Given the description of an element on the screen output the (x, y) to click on. 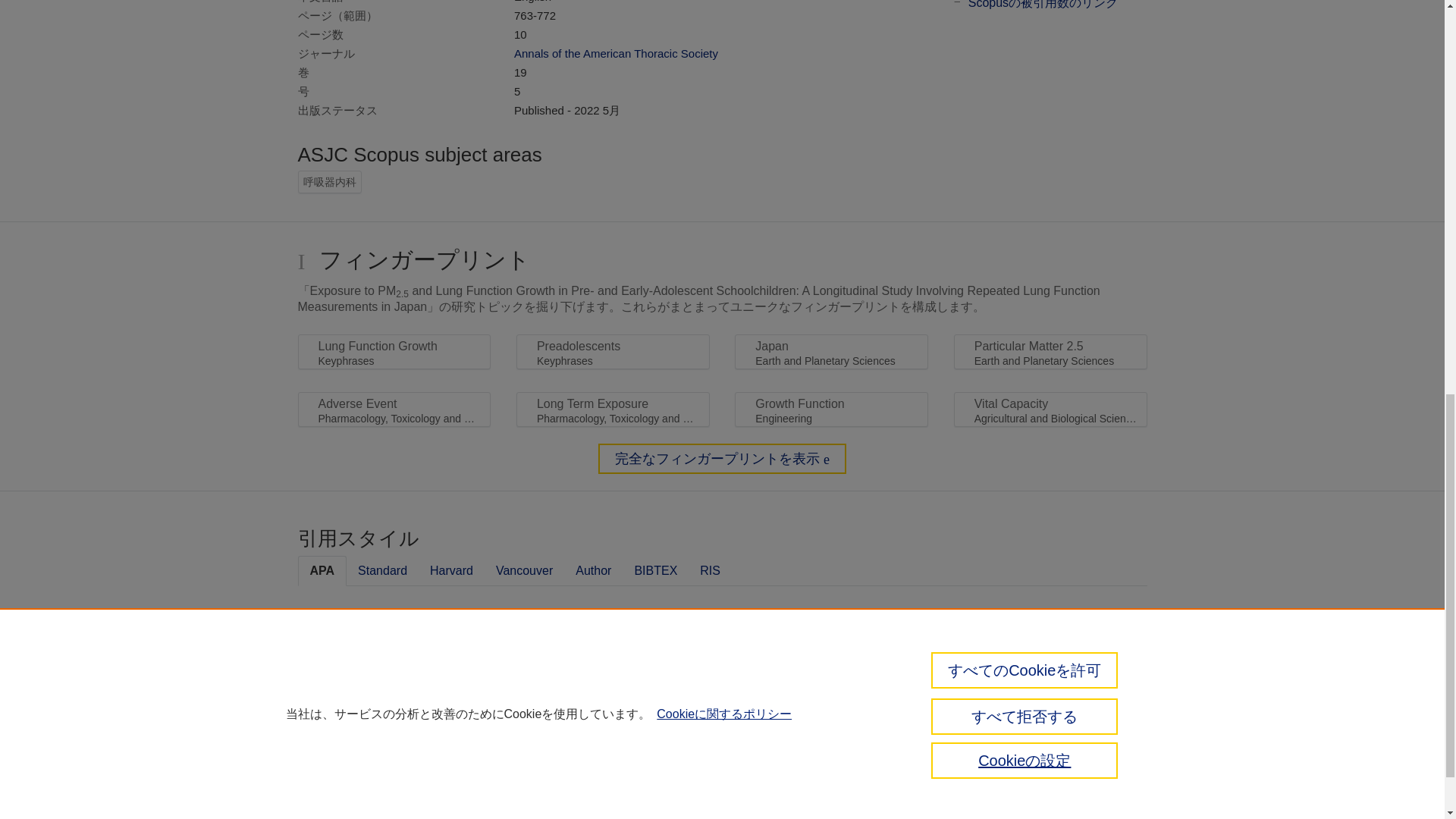
Scopus (362, 763)
Pure (330, 763)
Annals of the American Thoracic Society (615, 52)
Elsevier B.V. (545, 785)
